Given the description of an element on the screen output the (x, y) to click on. 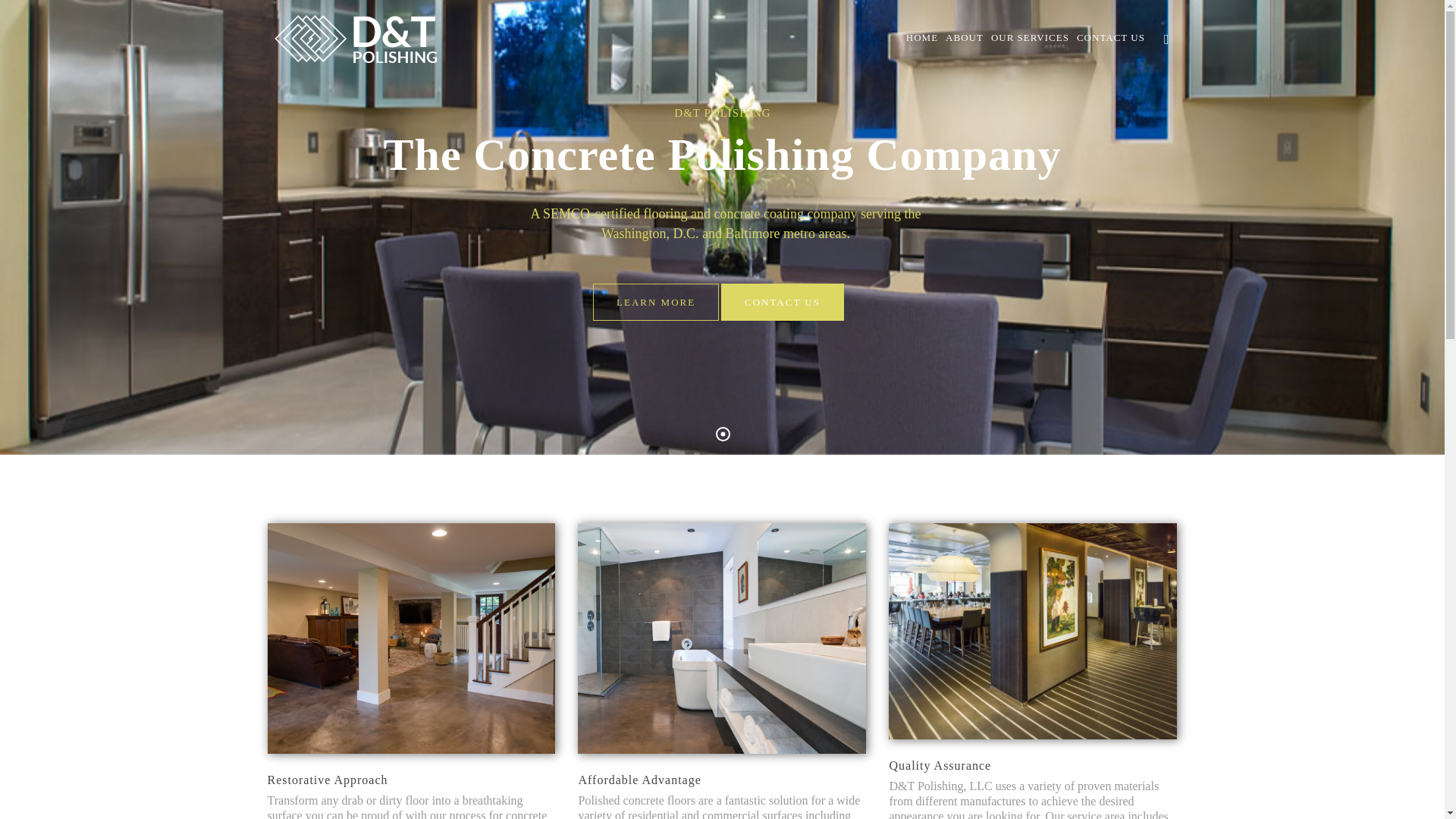
Affordable Advantage (639, 779)
CONTACT US (1110, 37)
OUR SERVICES (1029, 37)
HOME (921, 37)
Quality Assurance (939, 765)
concrete restoration (406, 814)
ABOUT (964, 37)
Restorative Approach (326, 779)
